Given the description of an element on the screen output the (x, y) to click on. 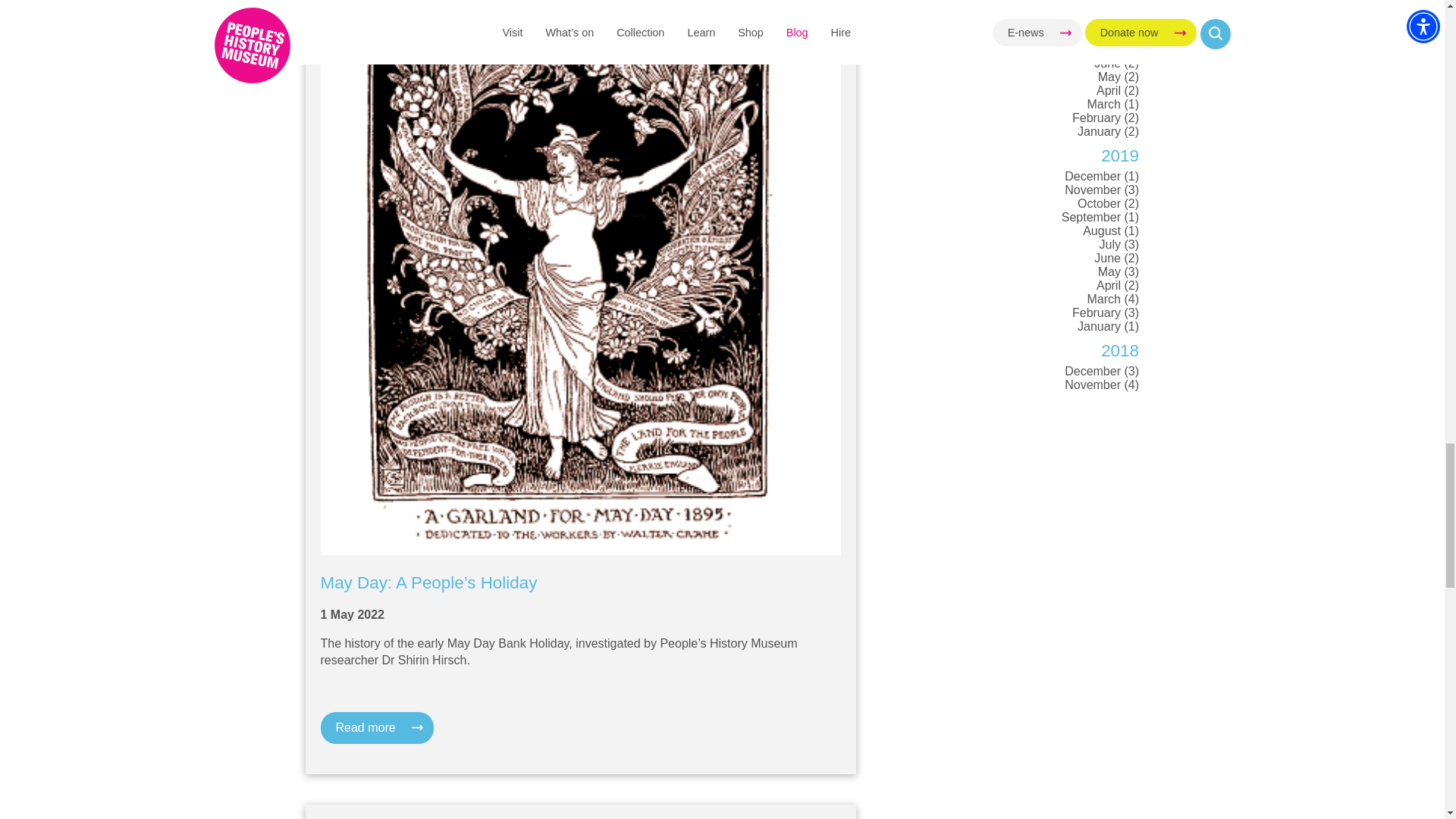
Read more (376, 727)
